Given the description of an element on the screen output the (x, y) to click on. 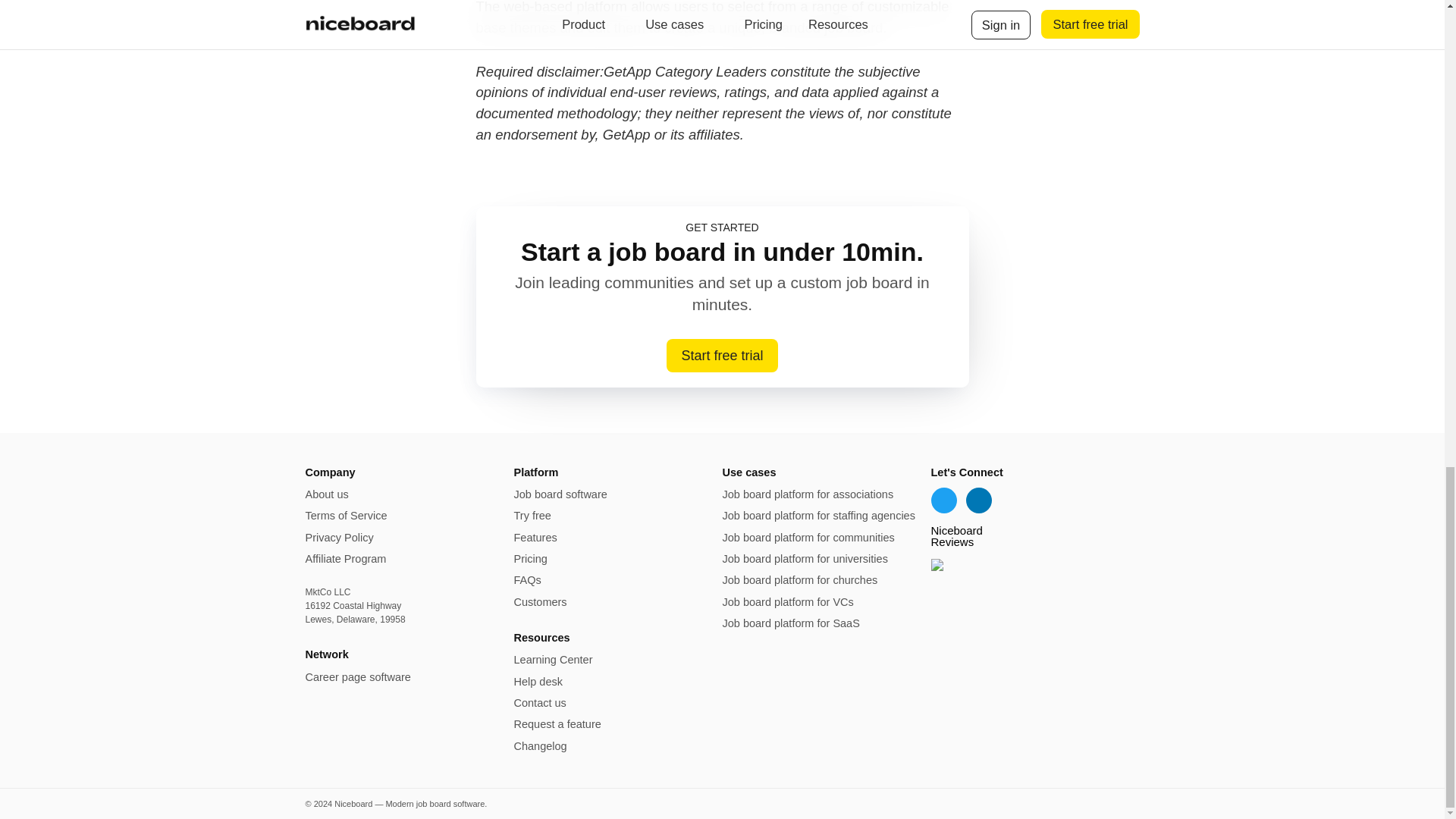
Affiliate Program (344, 558)
Job board platform for associations (807, 494)
Terms of Service (345, 515)
Features (535, 537)
Job board software (560, 494)
Changelog (540, 746)
Contact us (539, 702)
Request a feature (557, 724)
Career page software (357, 676)
Help desk (537, 681)
